Given the description of an element on the screen output the (x, y) to click on. 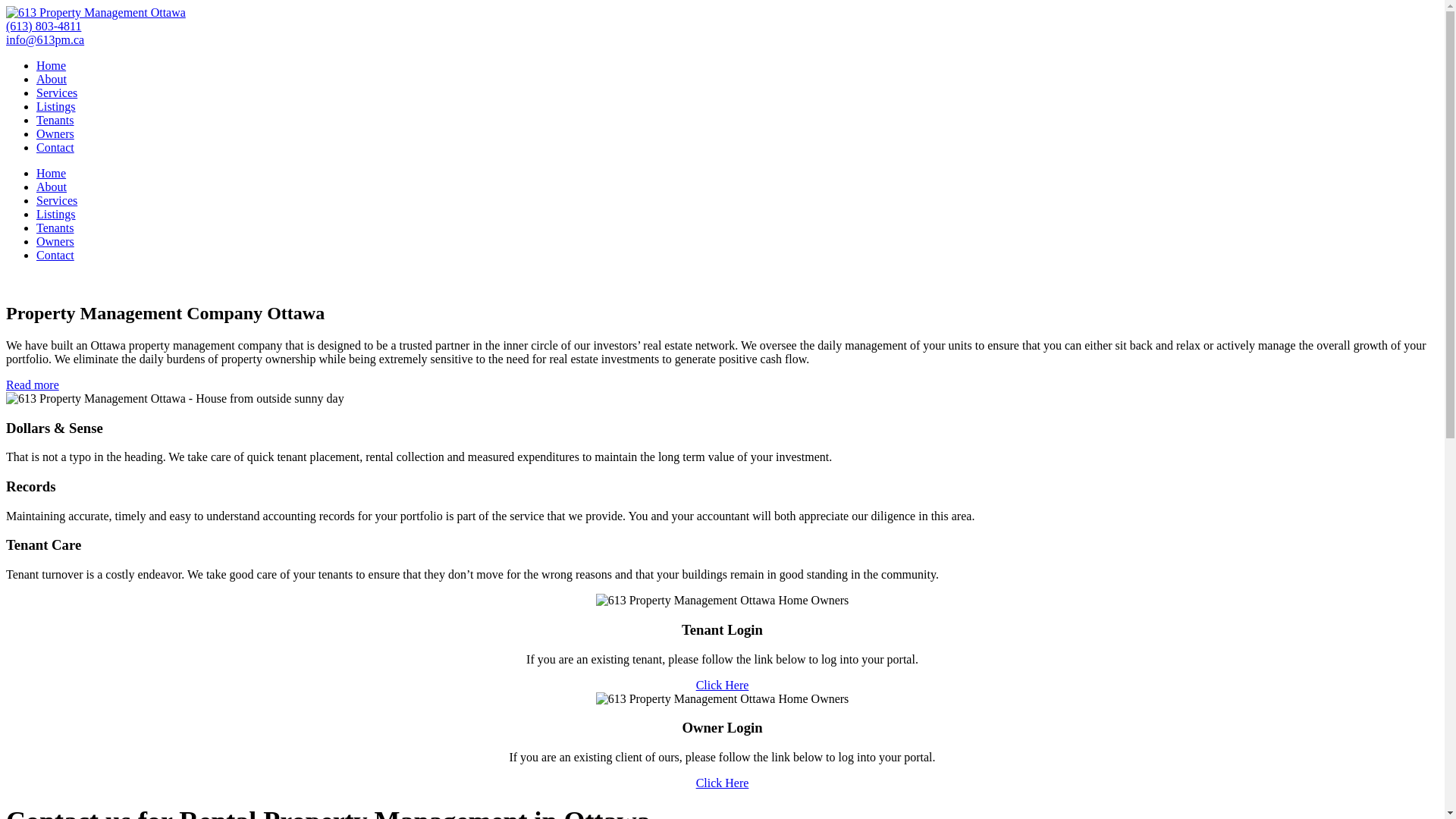
Contact Element type: text (55, 147)
Contact Element type: text (55, 254)
Owners Element type: text (55, 241)
Home Element type: text (50, 172)
Listings Element type: text (55, 106)
Click Here Element type: text (722, 684)
Tenants Element type: text (55, 227)
Click Here Element type: text (722, 782)
Home Element type: text (50, 65)
Tenants Element type: text (55, 119)
Services Element type: text (56, 200)
info@613pm.ca Element type: text (45, 39)
(613) 803-4811 Element type: text (43, 25)
About Element type: text (51, 78)
Listings Element type: text (55, 213)
Read more Element type: text (32, 384)
Services Element type: text (56, 92)
Owners Element type: text (55, 133)
About Element type: text (51, 186)
